Given the description of an element on the screen output the (x, y) to click on. 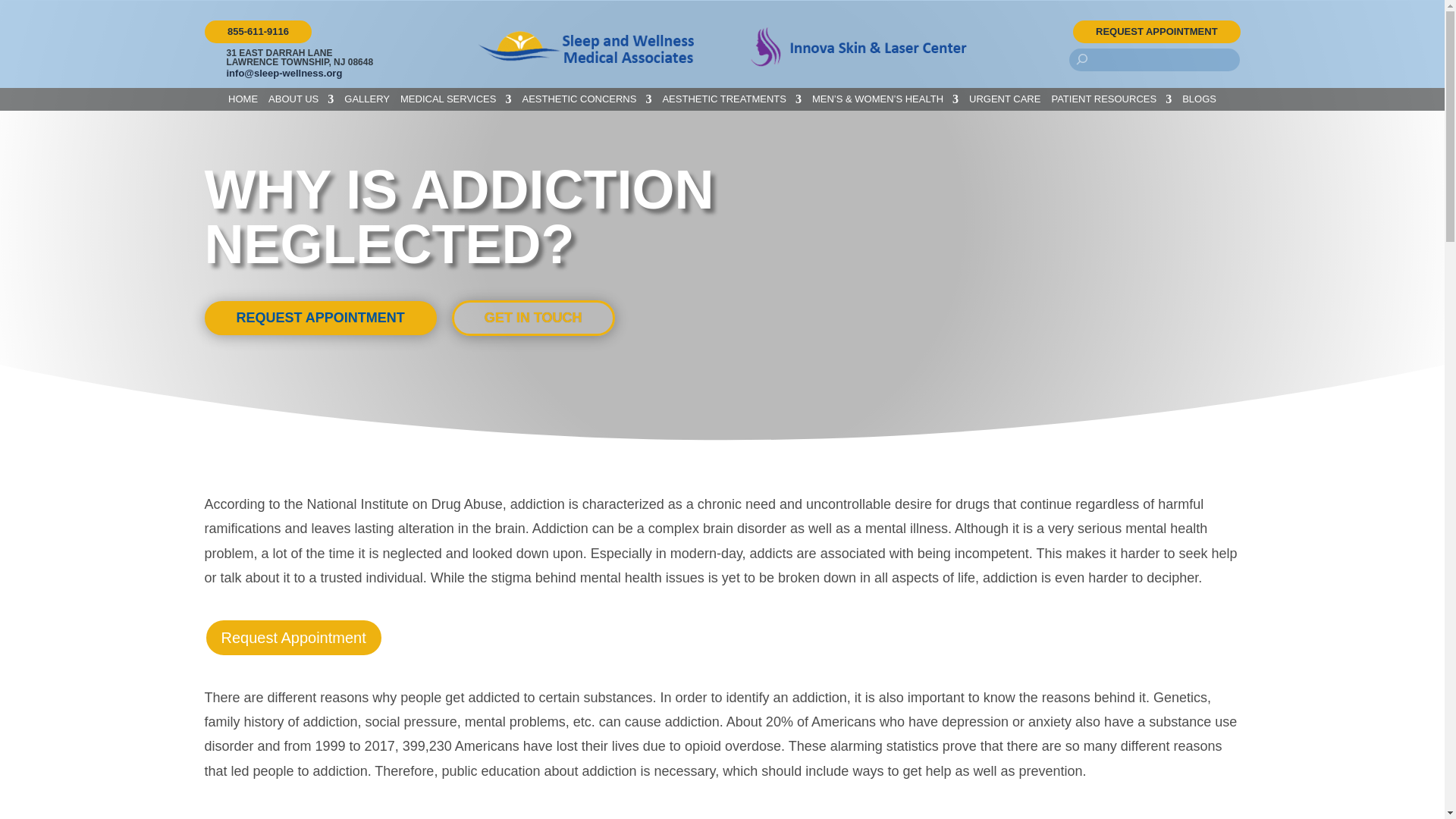
MEDICAL SERVICES (455, 102)
HOME (242, 102)
REQUEST APPOINTMENT (1156, 31)
innova skin and laser center logo new (858, 46)
855-611-9116 (258, 31)
sleep and wellness logo new (585, 47)
GALLERY (366, 102)
ABOUT US (300, 102)
